Given the description of an element on the screen output the (x, y) to click on. 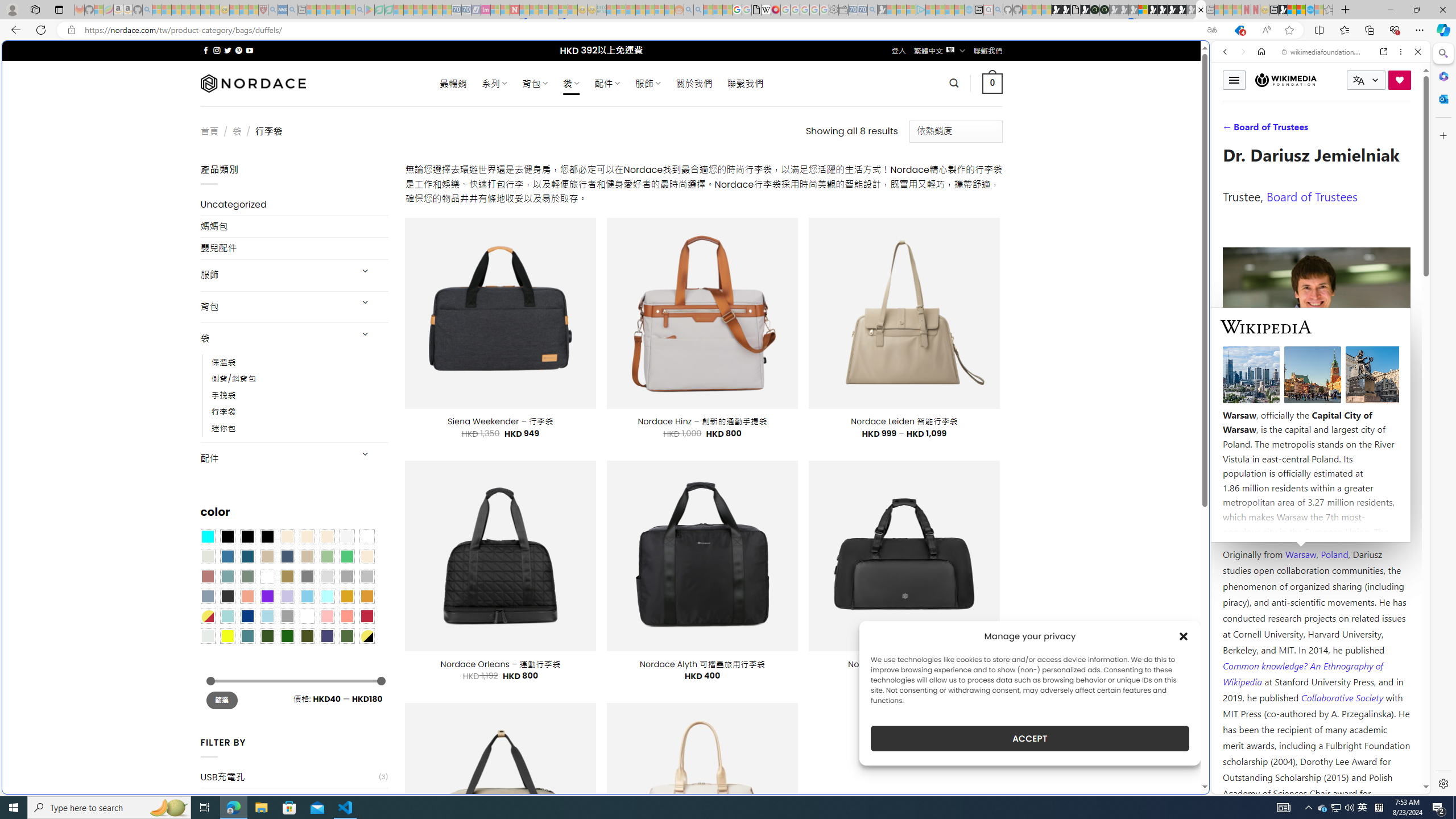
Poland (1334, 554)
